Given the description of an element on the screen output the (x, y) to click on. 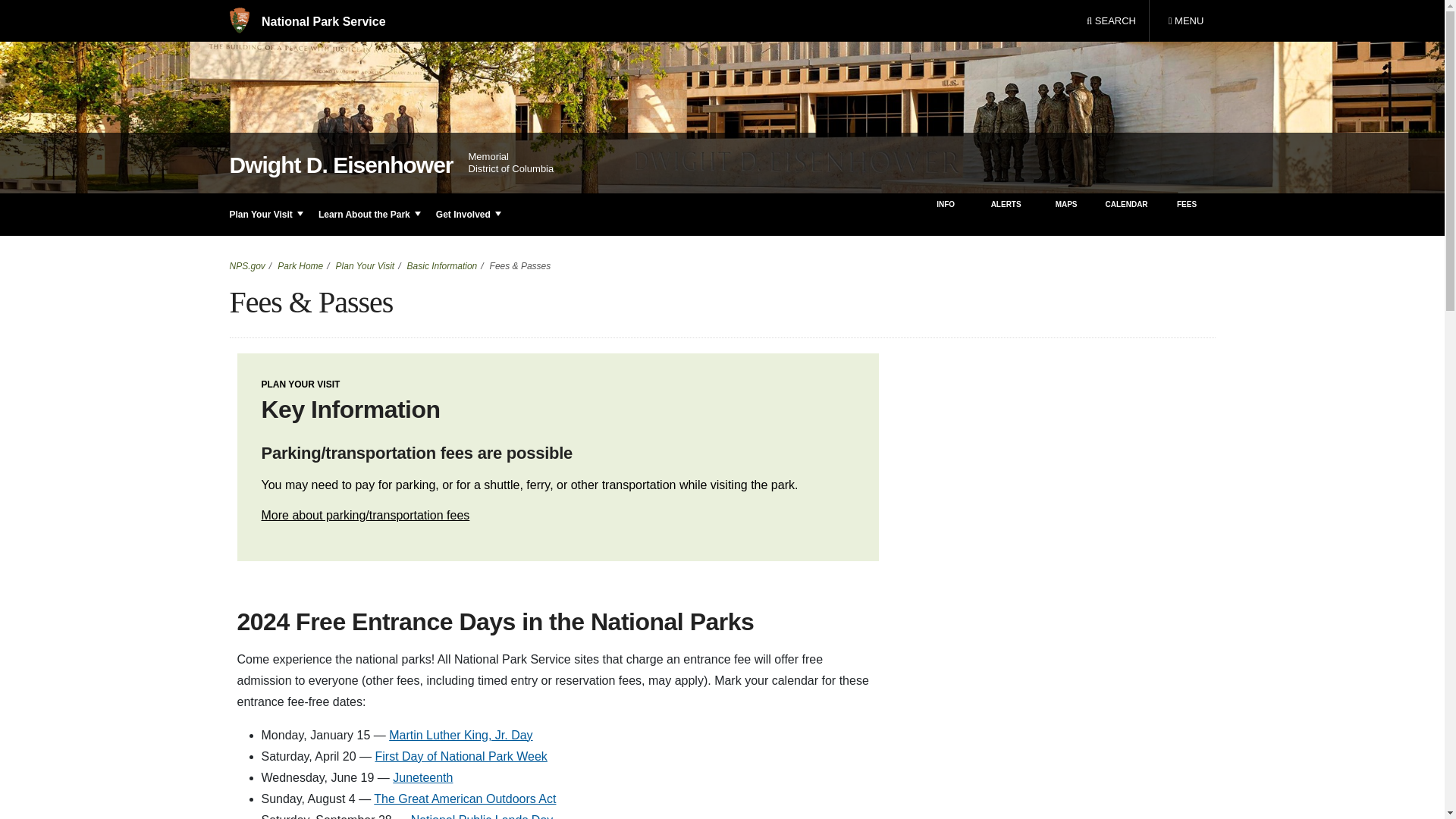
National Park Service (307, 20)
SEARCH (1111, 20)
